Given the description of an element on the screen output the (x, y) to click on. 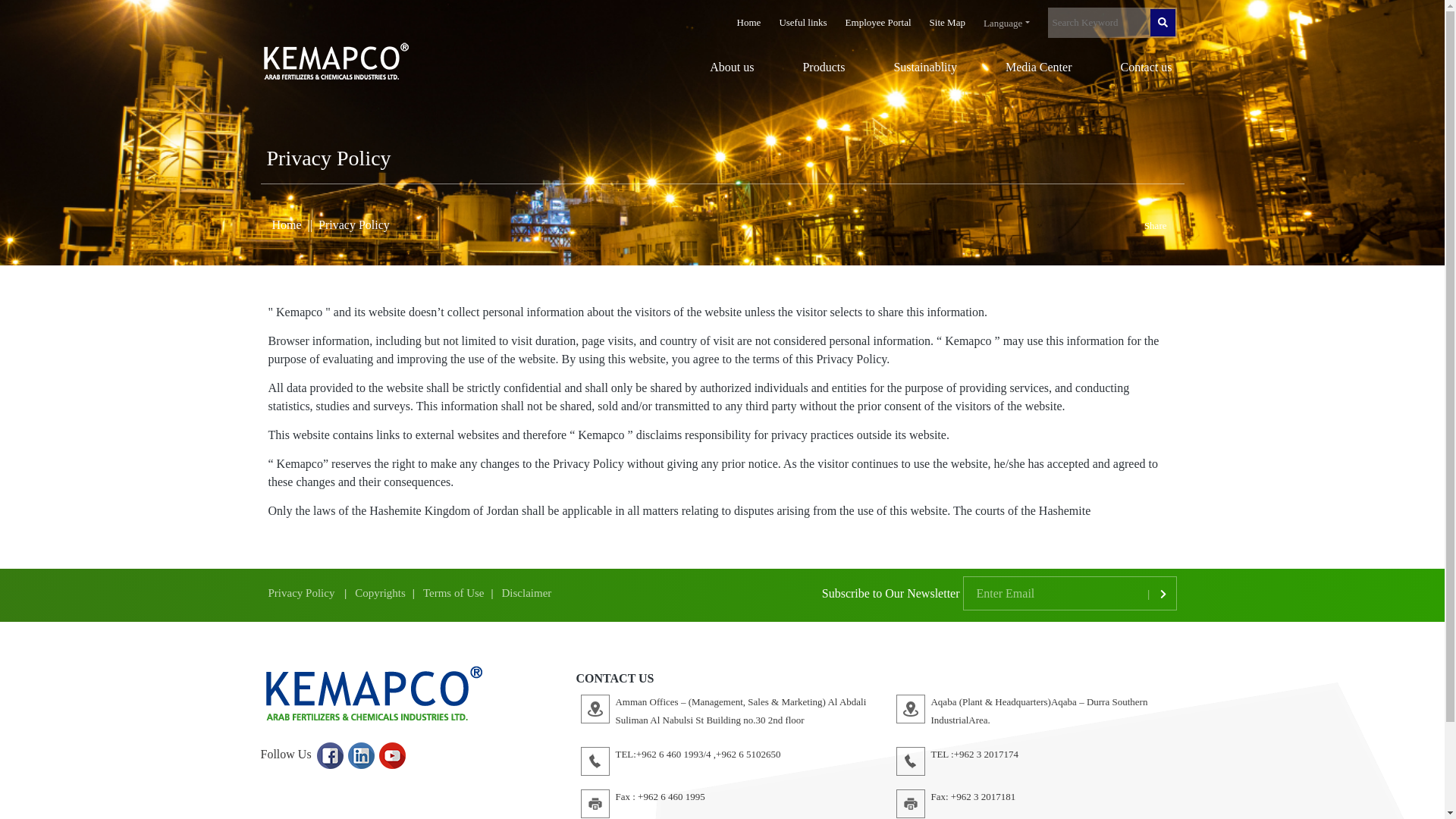
Language (1006, 23)
Useful links (802, 13)
Site Map (947, 13)
About us (718, 69)
Employee Portal (878, 13)
